Given the description of an element on the screen output the (x, y) to click on. 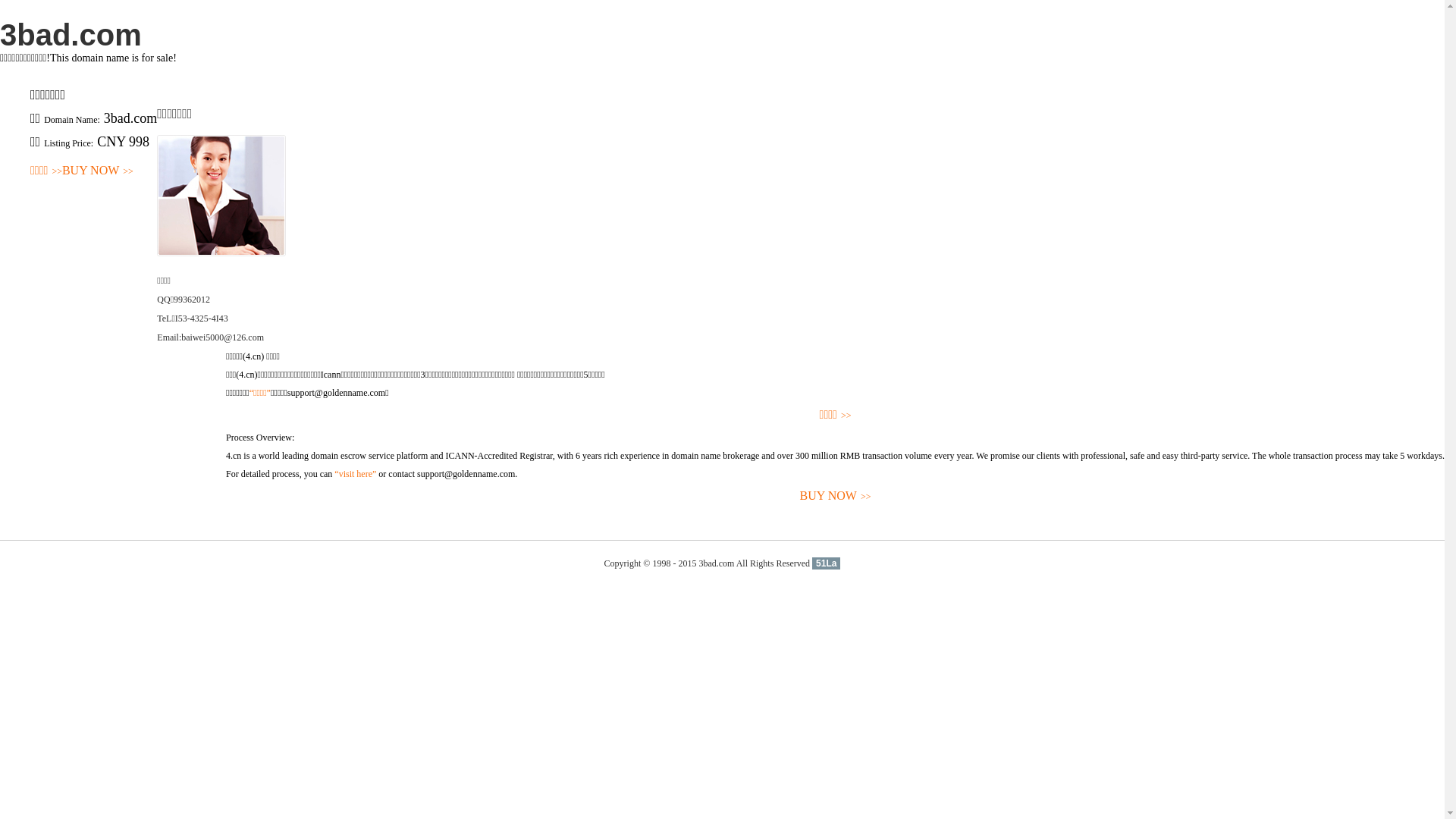
BUY NOW>> Element type: text (97, 170)
51La Element type: text (826, 563)
BUY NOW>> Element type: text (834, 496)
